Given the description of an element on the screen output the (x, y) to click on. 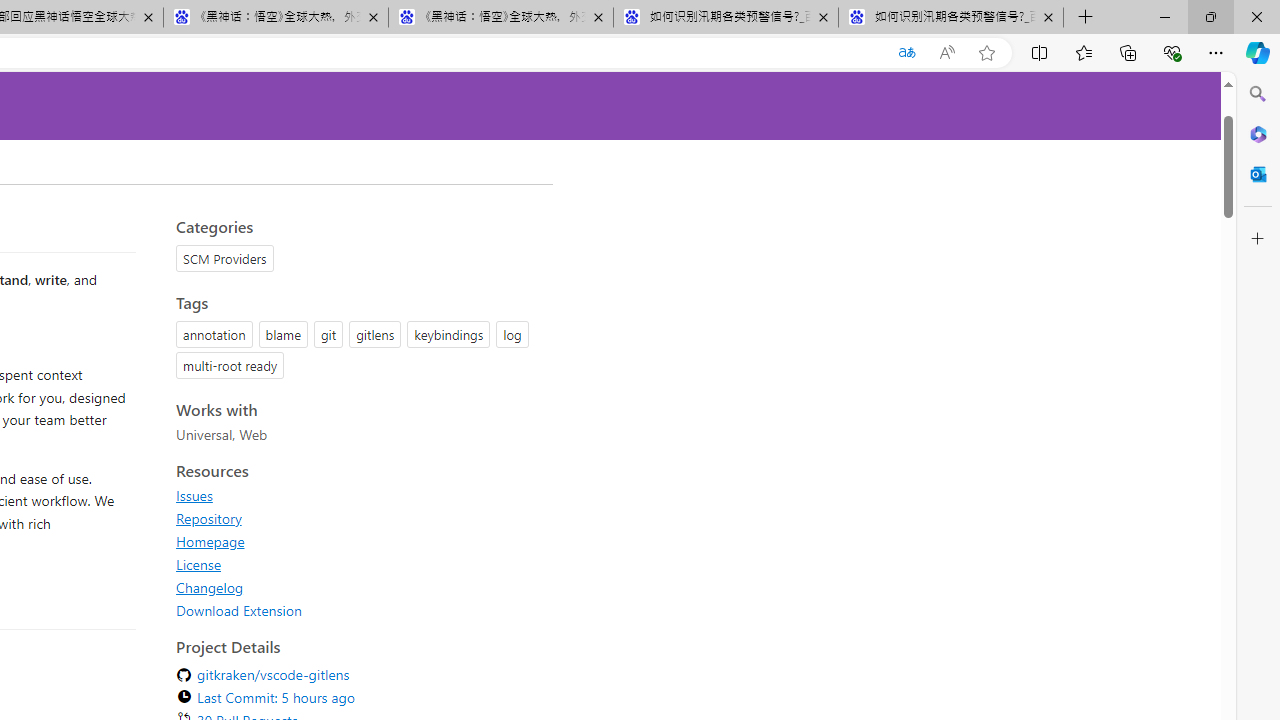
Repository (208, 518)
License (198, 564)
Download Extension (358, 610)
